Given the description of an element on the screen output the (x, y) to click on. 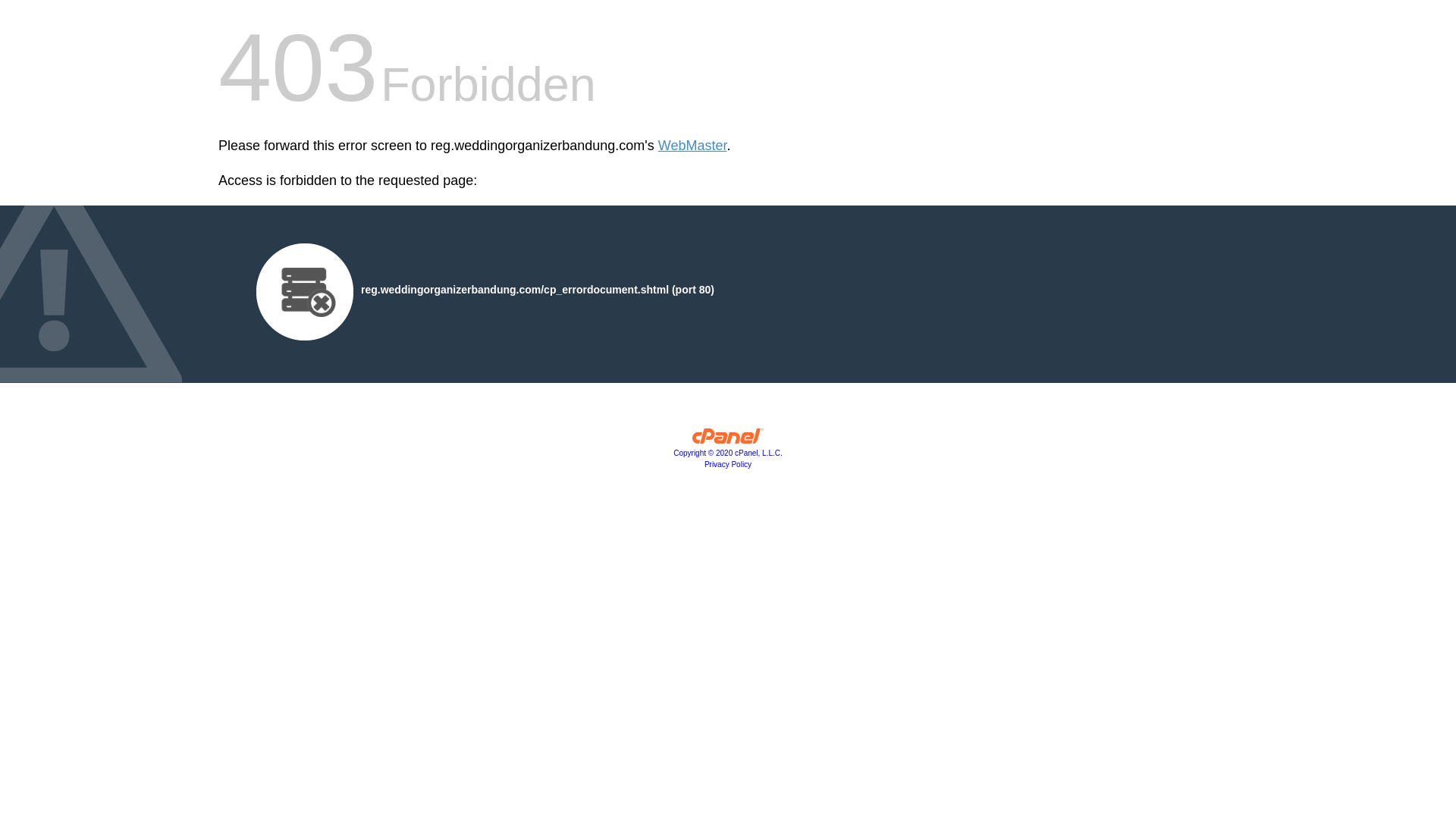
Privacy Policy (727, 464)
cPanel, Inc. (728, 439)
WebMaster (692, 145)
cPanel, Inc. (727, 452)
